Given the description of an element on the screen output the (x, y) to click on. 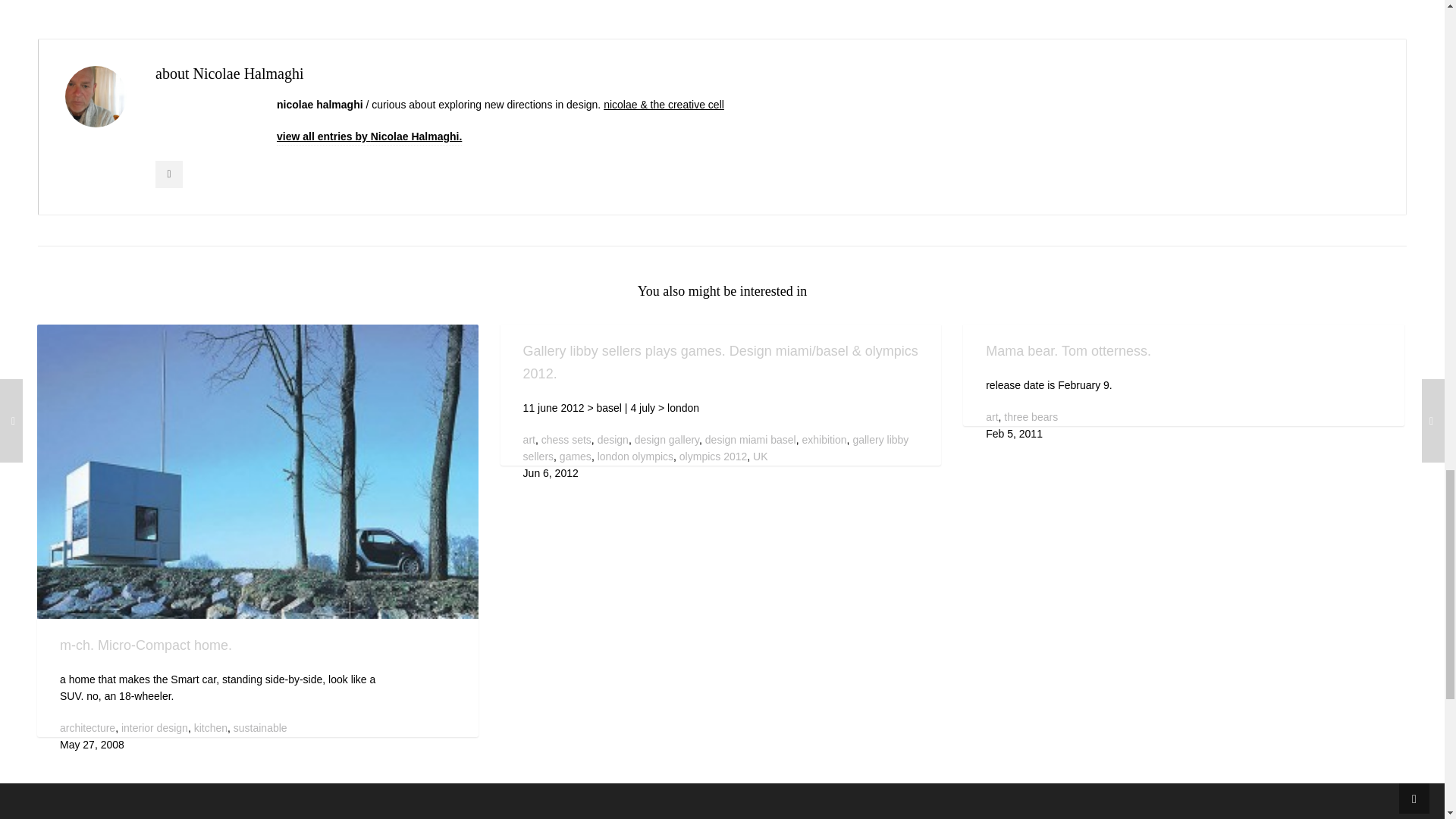
m-ch. Micro-Compact home. (258, 471)
Twitter (169, 174)
